Given the description of an element on the screen output the (x, y) to click on. 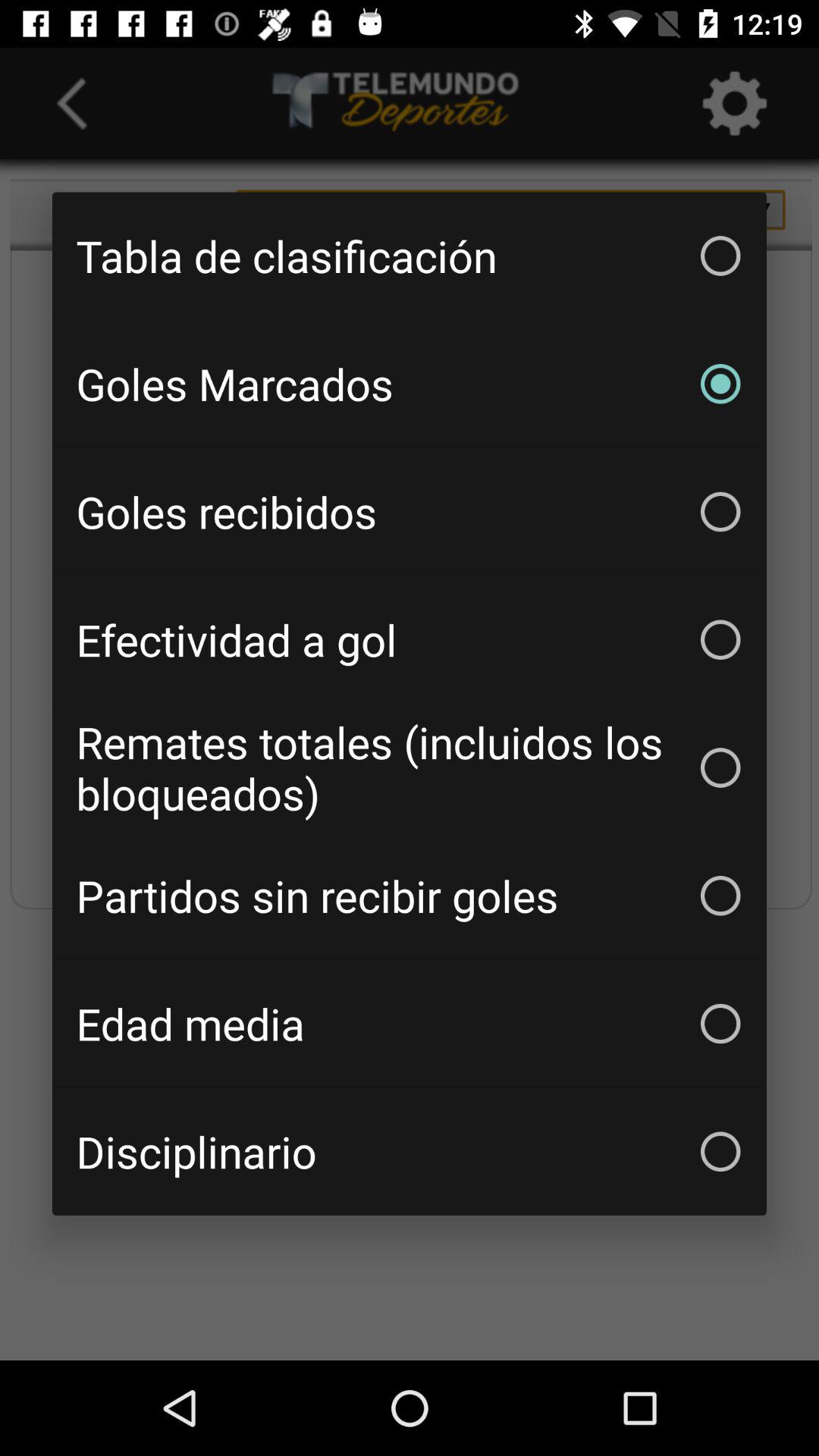
choose the icon above edad media icon (409, 895)
